Given the description of an element on the screen output the (x, y) to click on. 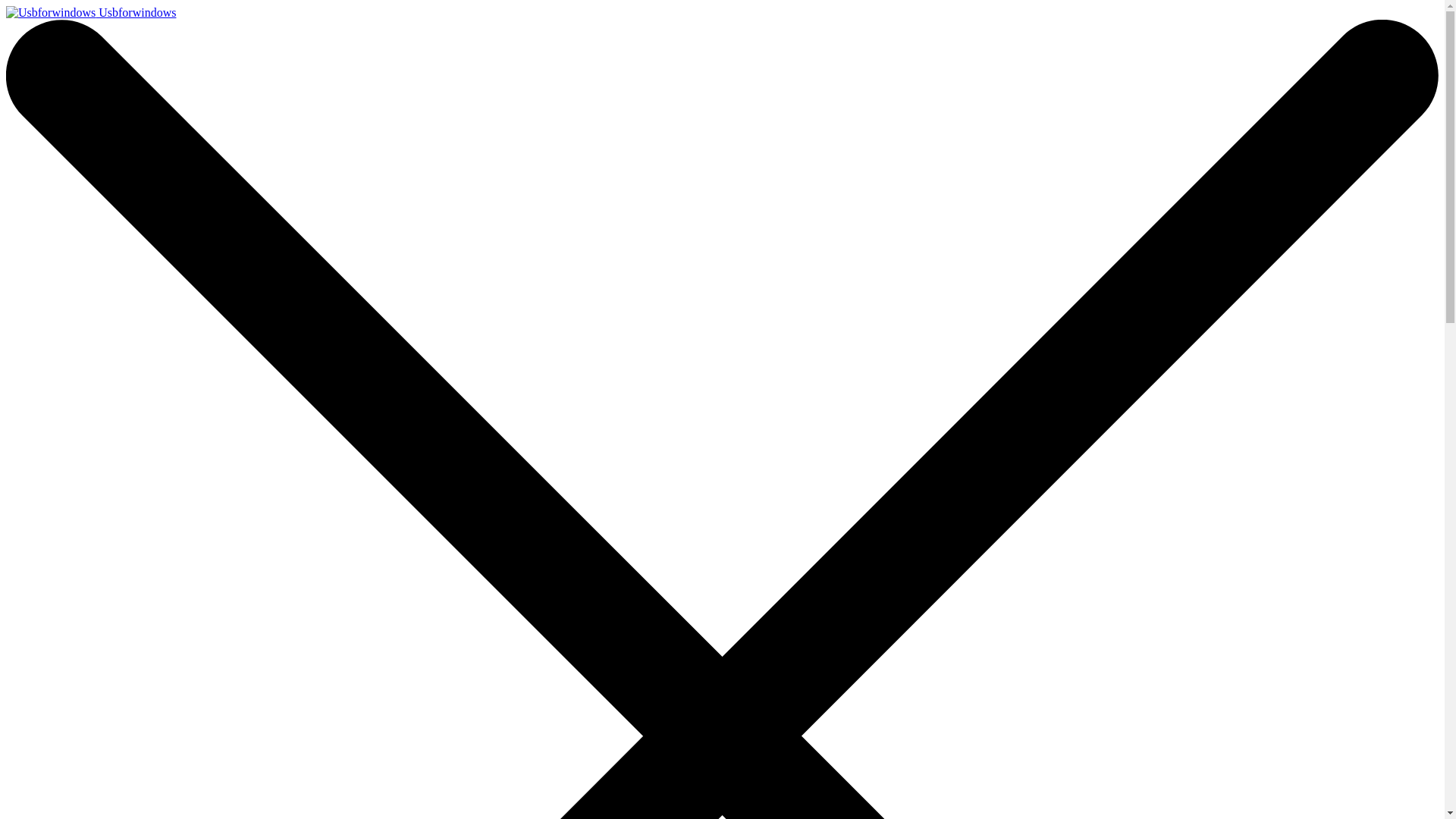
Usbforwindows (90, 11)
